Given the description of an element on the screen output the (x, y) to click on. 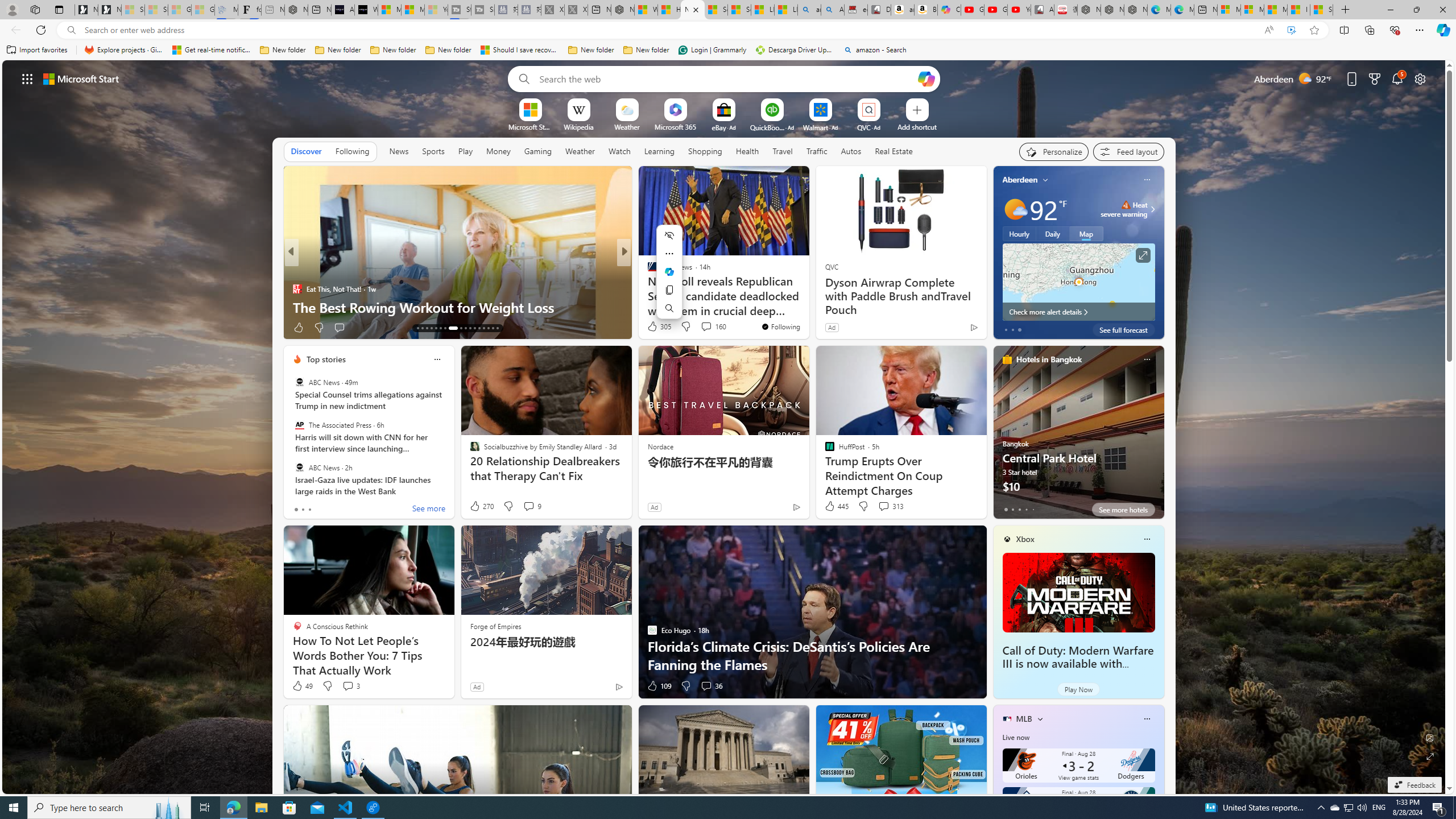
124 Like (654, 327)
Cents + Purpose (647, 288)
Sports (432, 151)
Nordace Comino Totepack (1089, 9)
Browser essentials (1394, 29)
Feedback (1414, 784)
Autos (850, 151)
Health (746, 151)
Expand background (1430, 756)
Heat - Severe (1126, 204)
Central Park Hotel (1078, 436)
Class: control (27, 78)
